Given the description of an element on the screen output the (x, y) to click on. 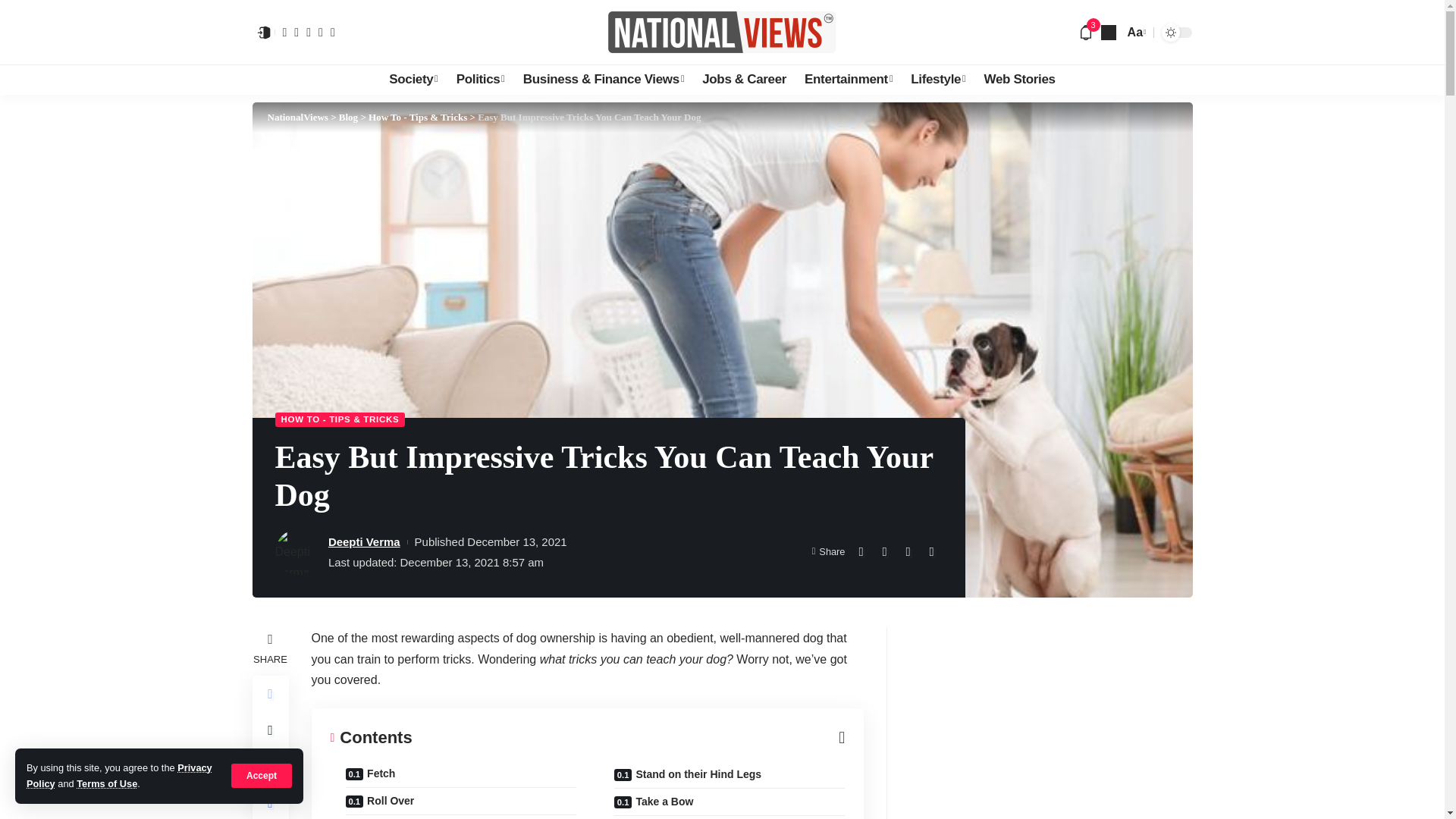
NationalViews (721, 32)
Go to Blog. (348, 116)
Aa (1135, 32)
Accept (261, 775)
Go to NationalViews. (296, 116)
Terms of Use (106, 783)
Privacy Policy (119, 775)
Politics (479, 79)
3 (1085, 31)
Society (413, 79)
